Given the description of an element on the screen output the (x, y) to click on. 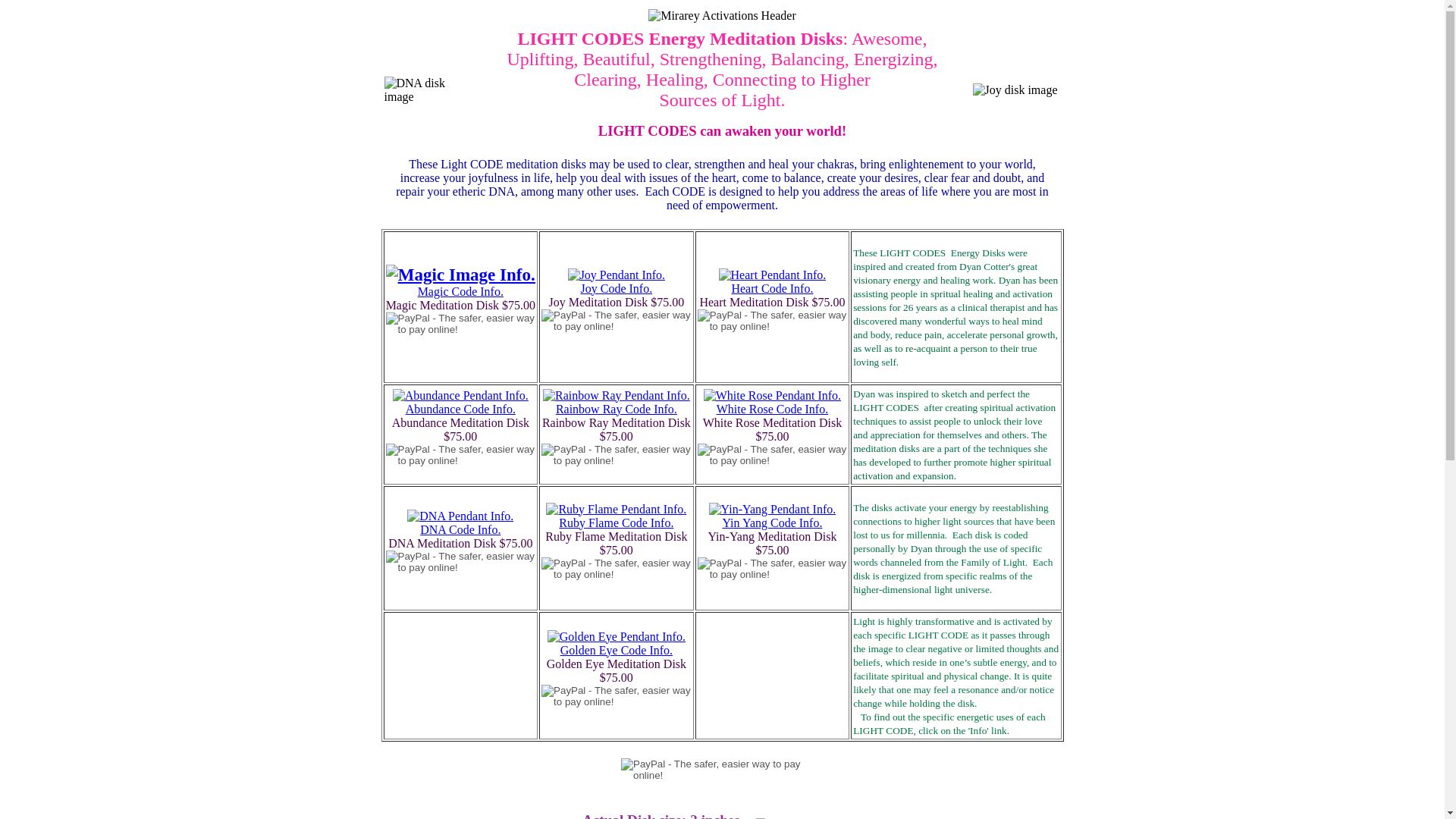
Joy Code Info. (616, 287)
Yin Yang Code Info. (772, 521)
Rainbow Ray Code Info. (616, 408)
Abundance Code Info. (460, 408)
Magic Code Info. (460, 291)
Golden Eye Code Info. (616, 649)
Ruby Flame Code Info. (615, 521)
White Rose Code Info. (772, 408)
Heart Code Info. (771, 287)
DNA Code Info. (460, 529)
